Given the description of an element on the screen output the (x, y) to click on. 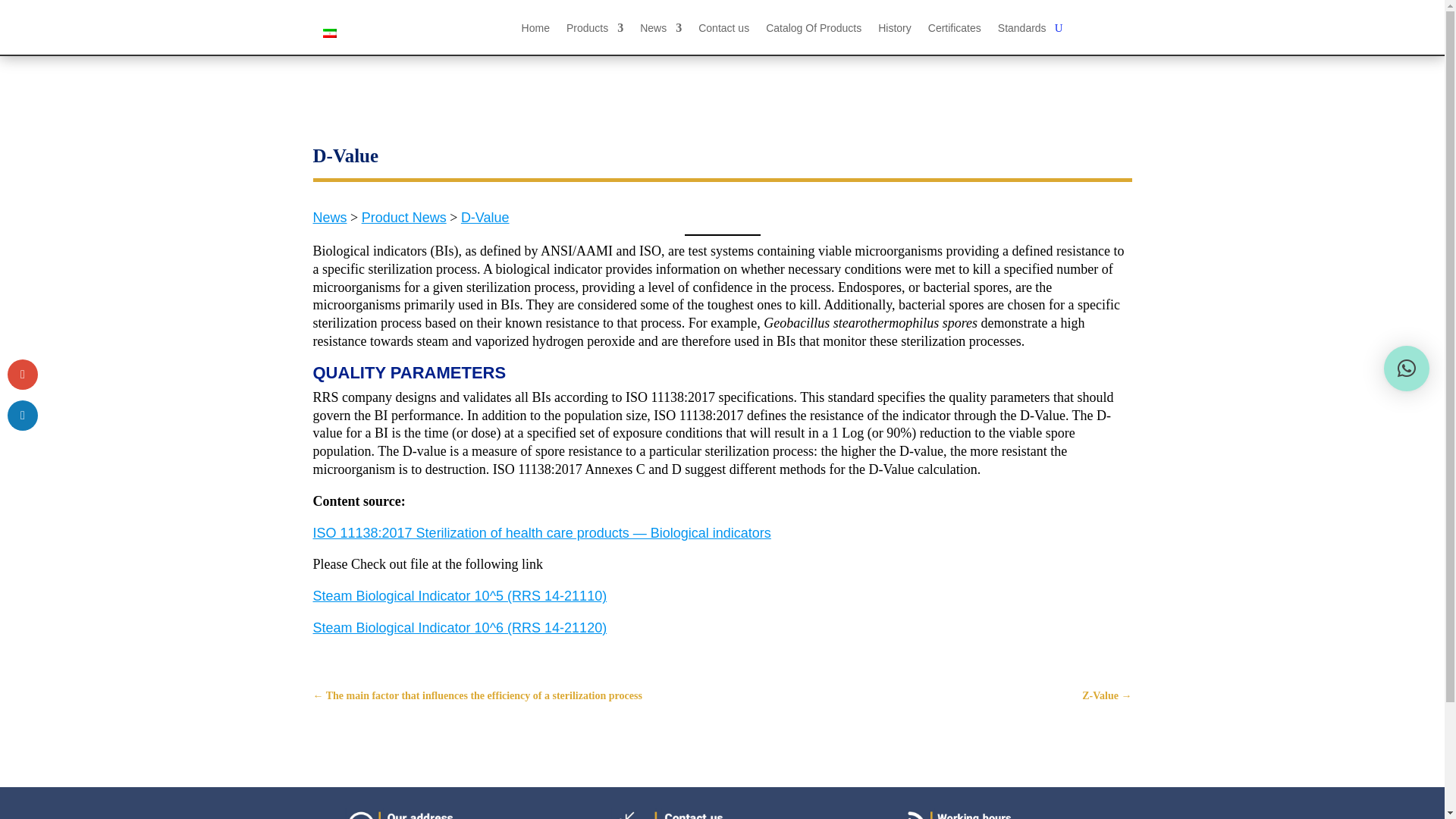
Go to the News category archives. (329, 217)
Footnote1-min (1046, 813)
Home (535, 30)
Footnote3-min (470, 813)
Go to the Product News category archives. (403, 217)
Products (594, 30)
Go to D-Value. (485, 226)
Footnote2-min (758, 813)
